Given the description of an element on the screen output the (x, y) to click on. 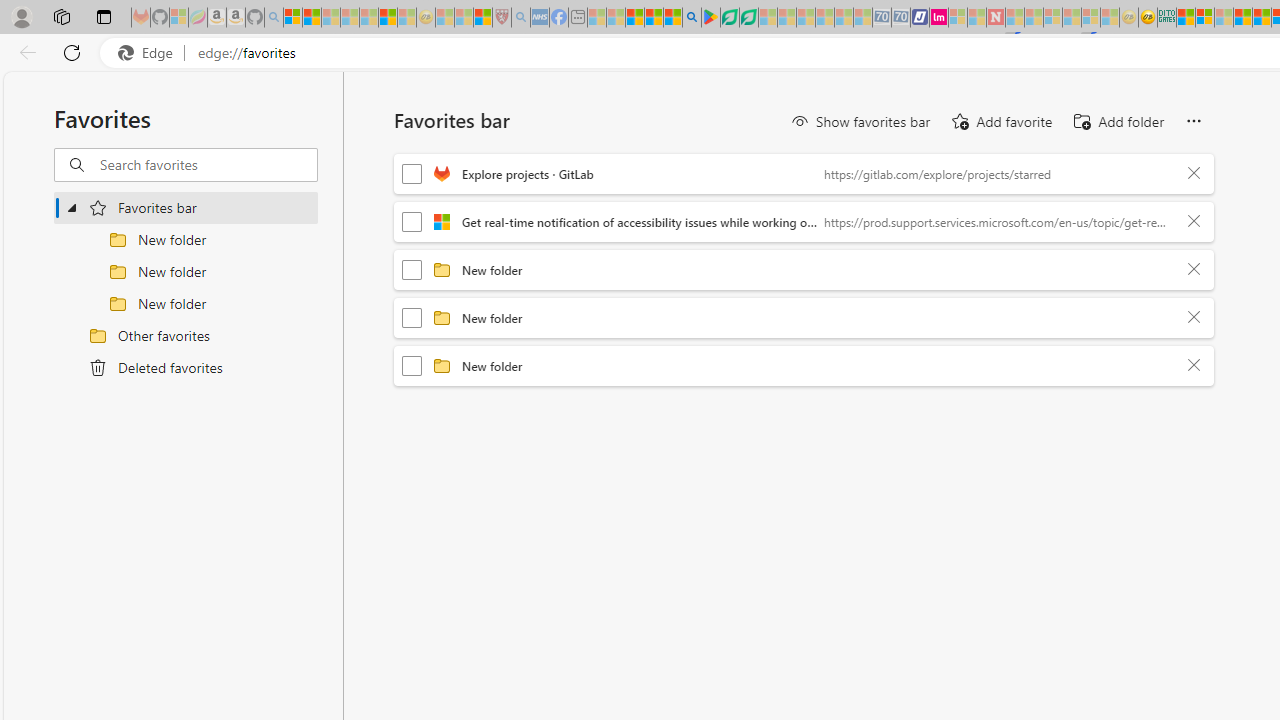
Microsoft Start - Sleeping (976, 17)
google - Search (692, 17)
list of asthma inhalers uk - Search - Sleeping (520, 17)
Terms of Use Agreement (729, 17)
